Given the description of an element on the screen output the (x, y) to click on. 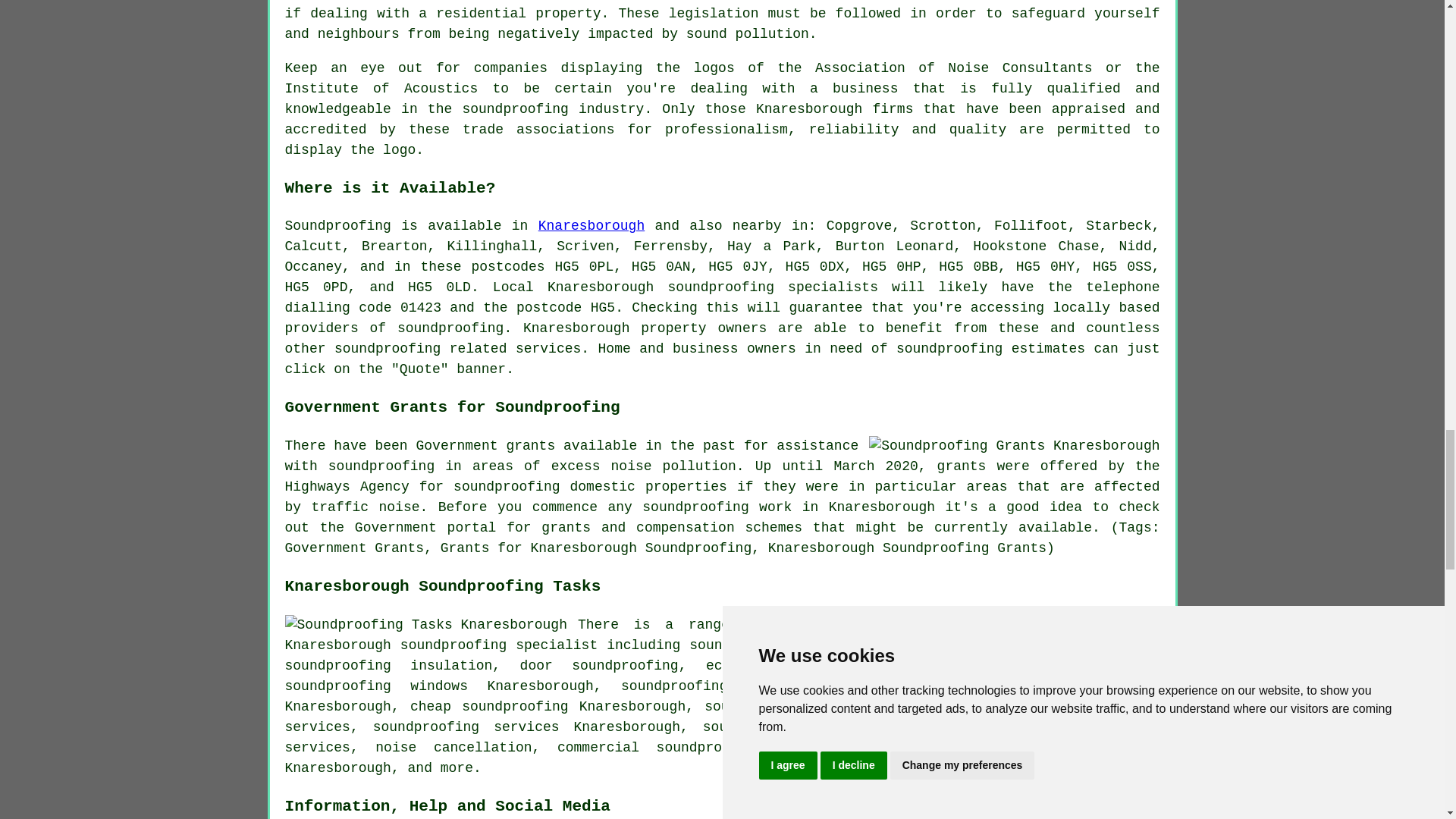
soundproofing specialists (772, 287)
Soundproofing Grants Knaresborough (1013, 445)
soundproofing (450, 328)
Soundproofing Tasks Knaresborough (426, 625)
Soundproofing (338, 225)
